Given the description of an element on the screen output the (x, y) to click on. 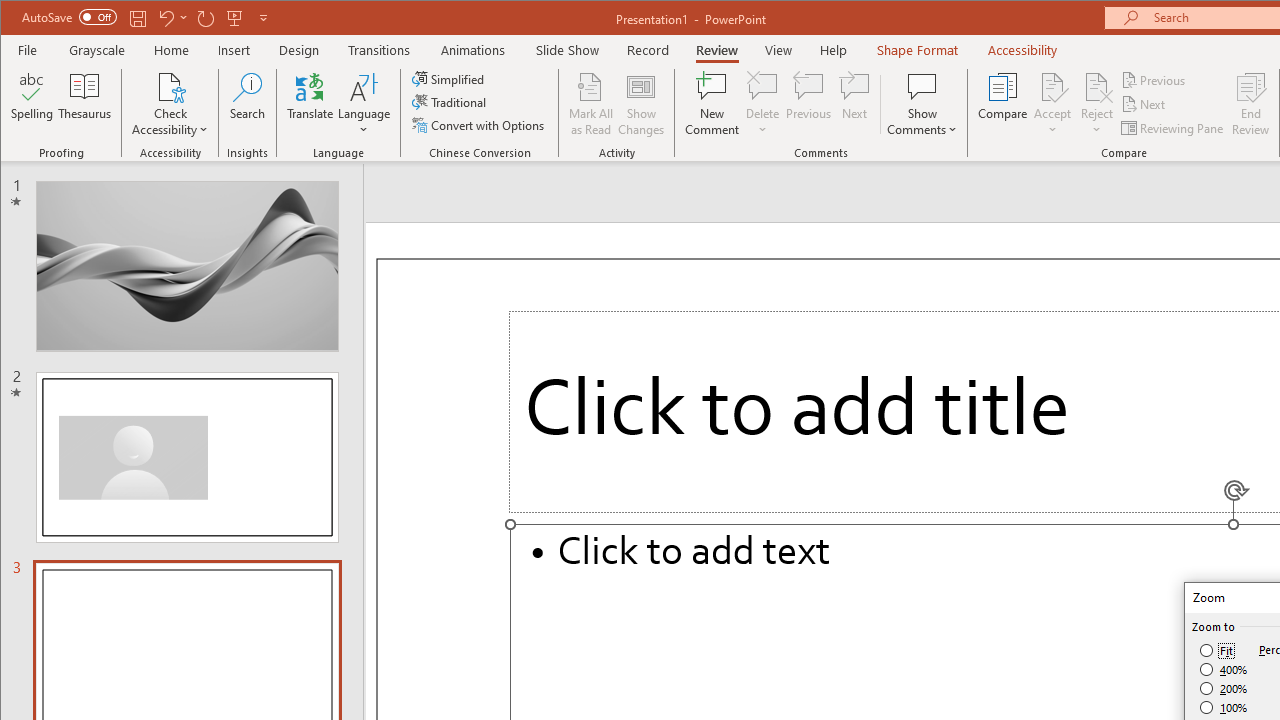
Convert with Options... (479, 124)
Thesaurus... (84, 104)
Reject Change (1096, 86)
Reviewing Pane (1173, 127)
